Given the description of an element on the screen output the (x, y) to click on. 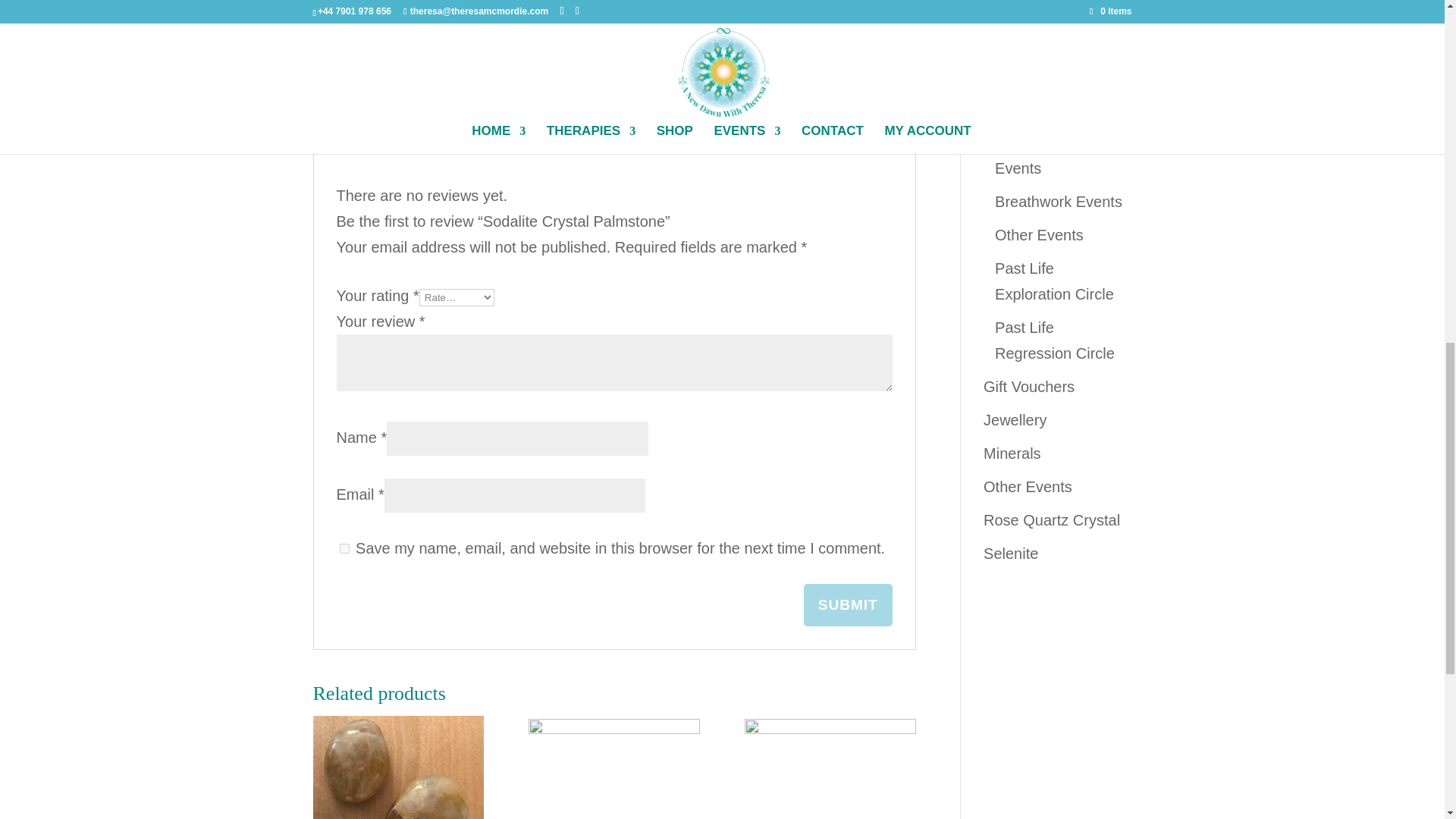
Submit (847, 604)
yes (344, 548)
Submit (847, 604)
Crystal Thumb, Polished and Palm Stones (768, 7)
